Given the description of an element on the screen output the (x, y) to click on. 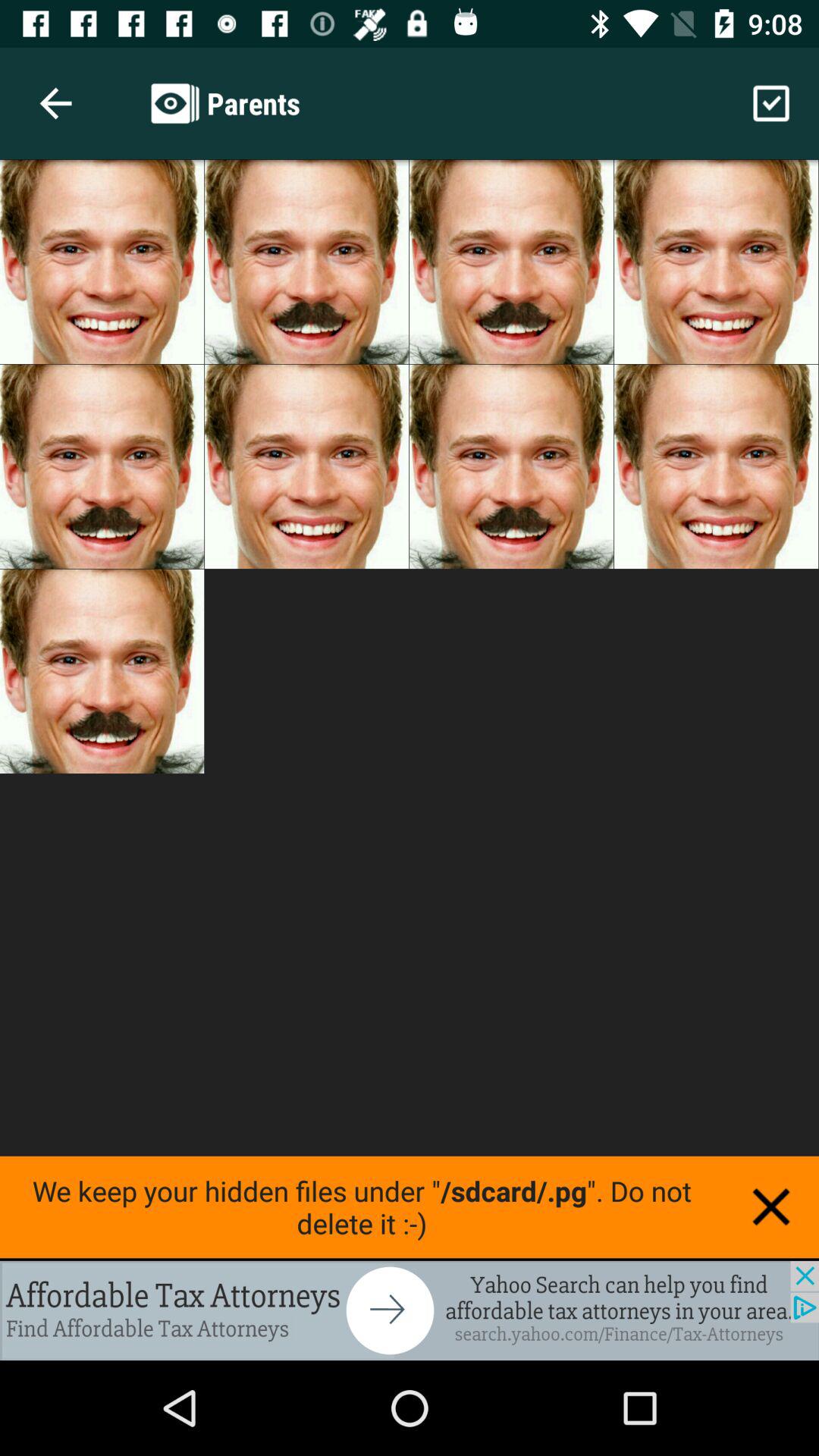
exit lower pop up (771, 1206)
